Given the description of an element on the screen output the (x, y) to click on. 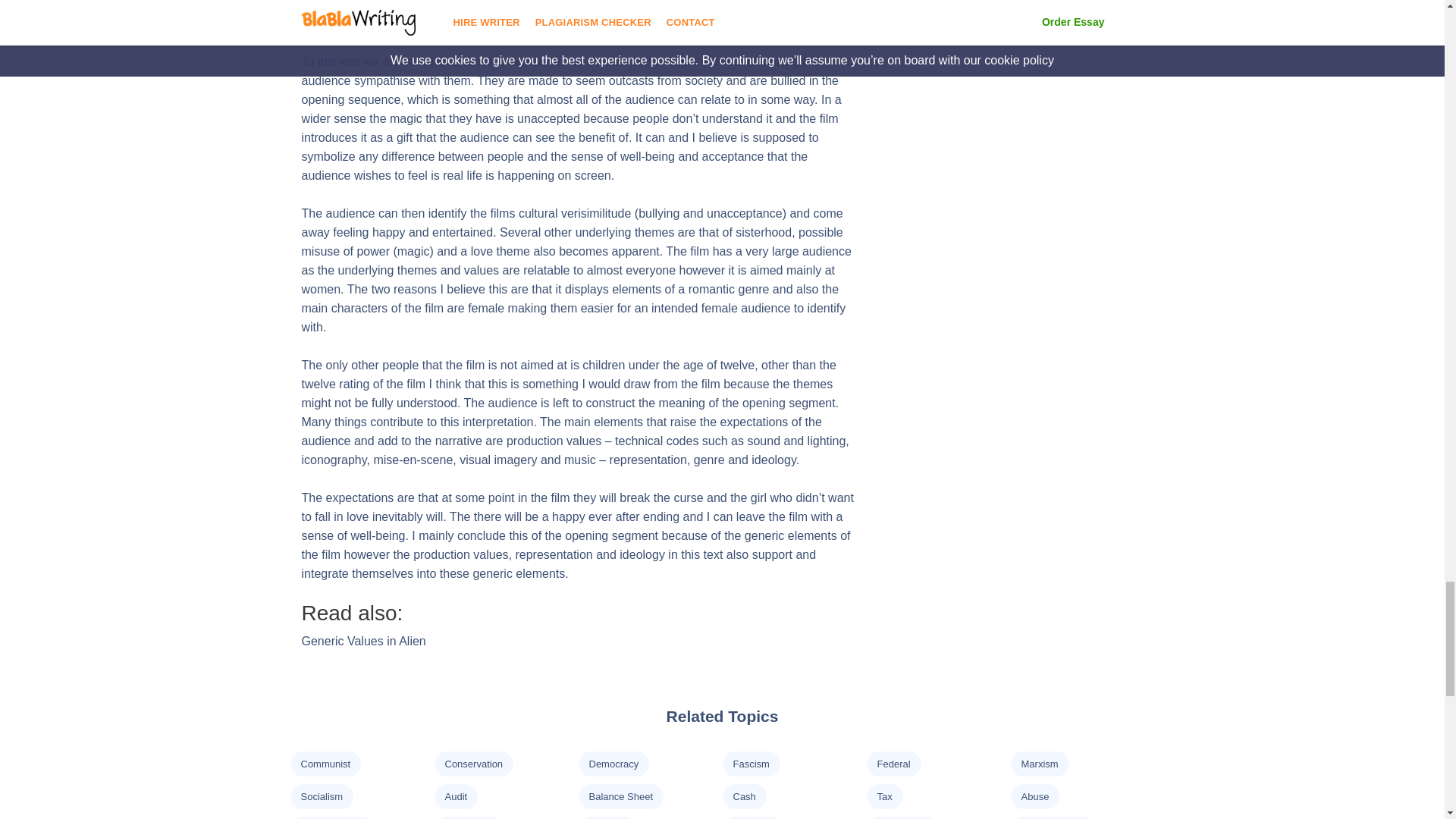
Conservation (473, 763)
Democracy (613, 763)
Balance Sheet (620, 796)
Federal (893, 763)
Audit (455, 796)
Socialism (320, 796)
Communist (324, 763)
Fascism (750, 763)
Cash (743, 796)
Marxism (1039, 763)
